Given the description of an element on the screen output the (x, y) to click on. 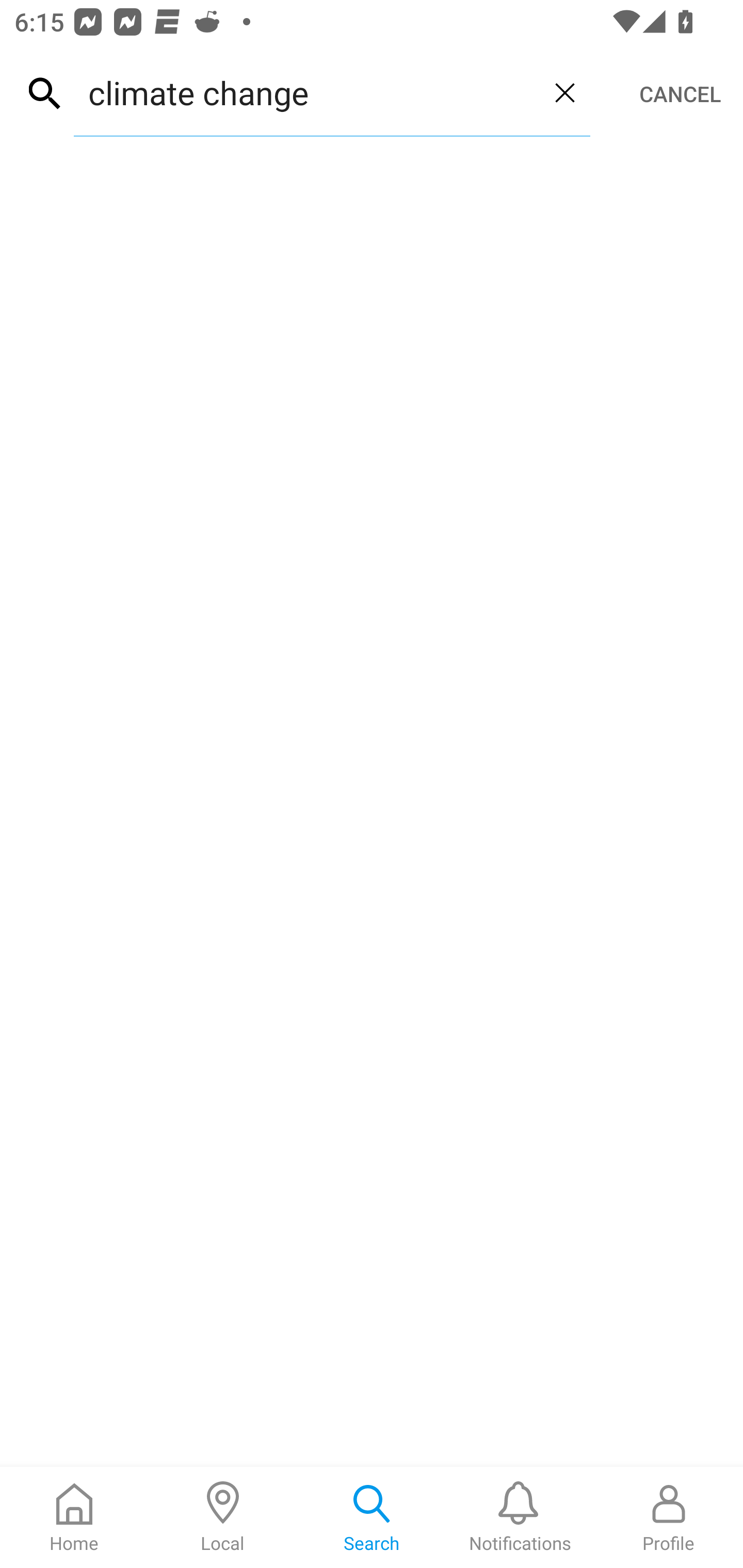
Clear query (564, 92)
CANCEL (680, 93)
climate change (306, 92)
Home (74, 1517)
Local (222, 1517)
Notifications (519, 1517)
Profile (668, 1517)
